Given the description of an element on the screen output the (x, y) to click on. 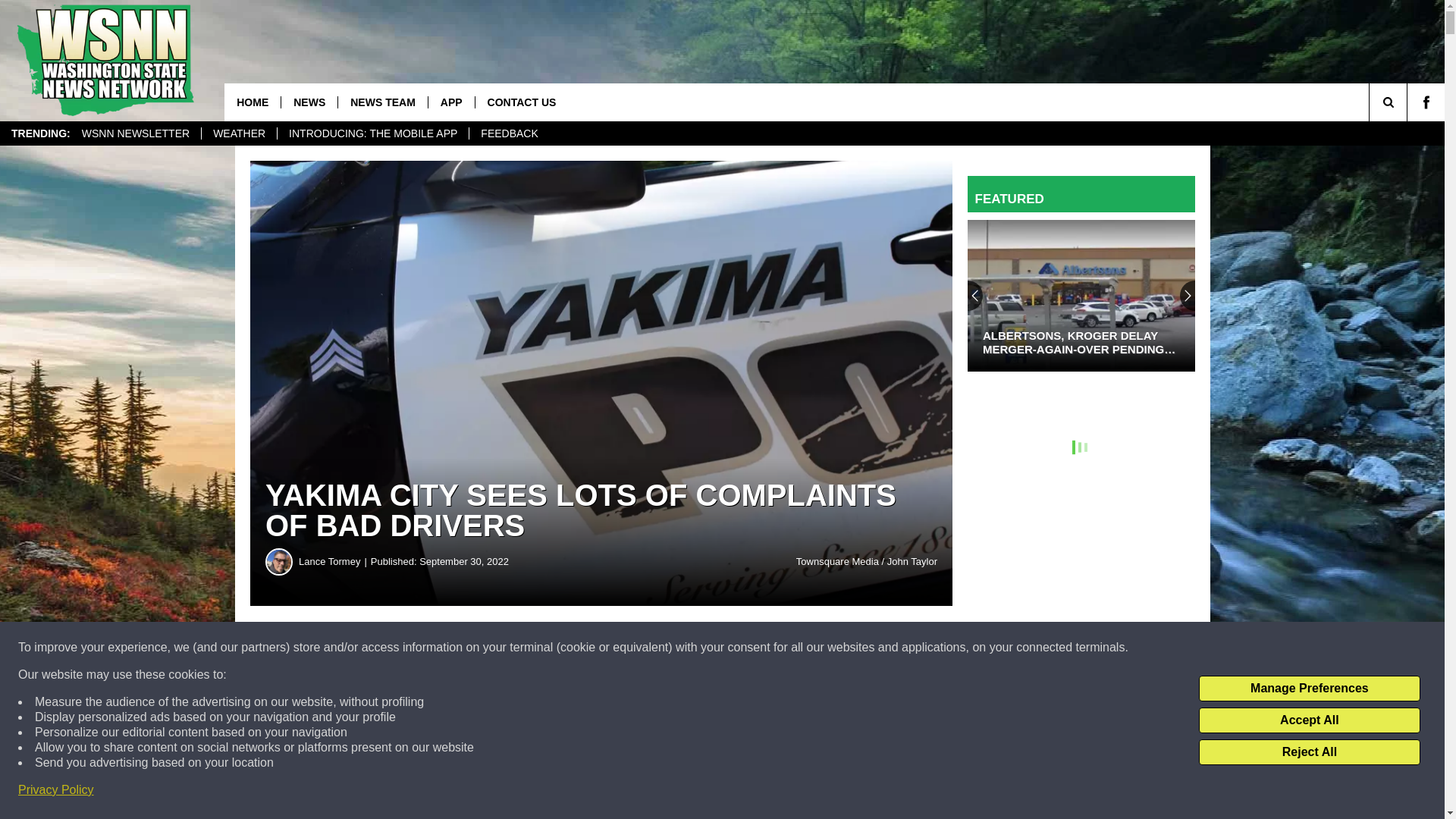
WEATHER (238, 133)
Manage Preferences (1309, 688)
INTRODUCING: THE MOBILE APP (372, 133)
Share on Twitter (741, 647)
Reject All (1309, 751)
CONTACT US (521, 102)
Accept All (1309, 720)
HOME (252, 102)
APP (451, 102)
Share on Facebook (460, 647)
NEWS TEAM (382, 102)
FEEDBACK (508, 133)
Privacy Policy (55, 789)
WSNN NEWSLETTER (134, 133)
NEWS (309, 102)
